Given the description of an element on the screen output the (x, y) to click on. 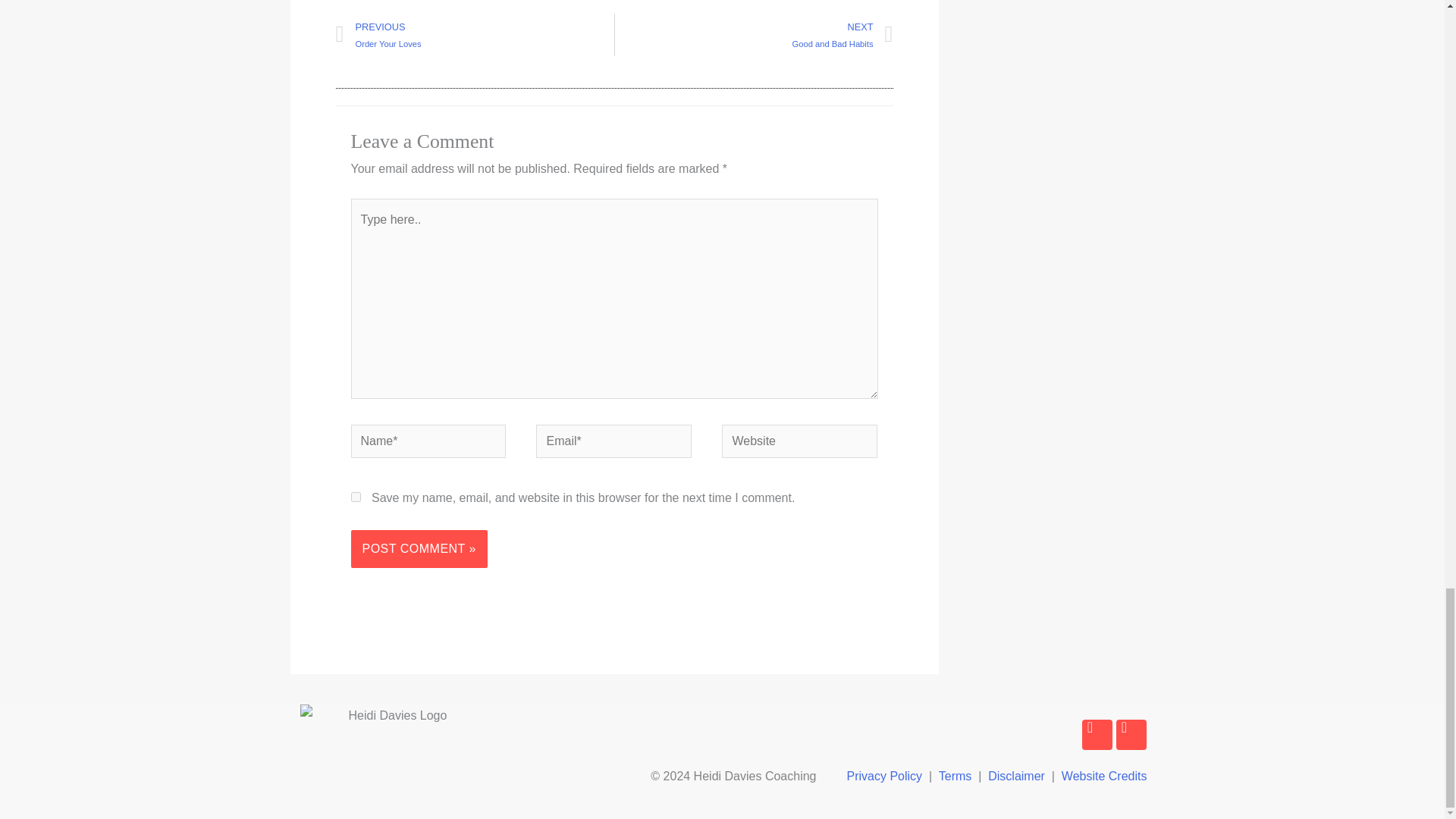
yes (354, 497)
Instagram (1131, 734)
Facebook (753, 34)
